Given the description of an element on the screen output the (x, y) to click on. 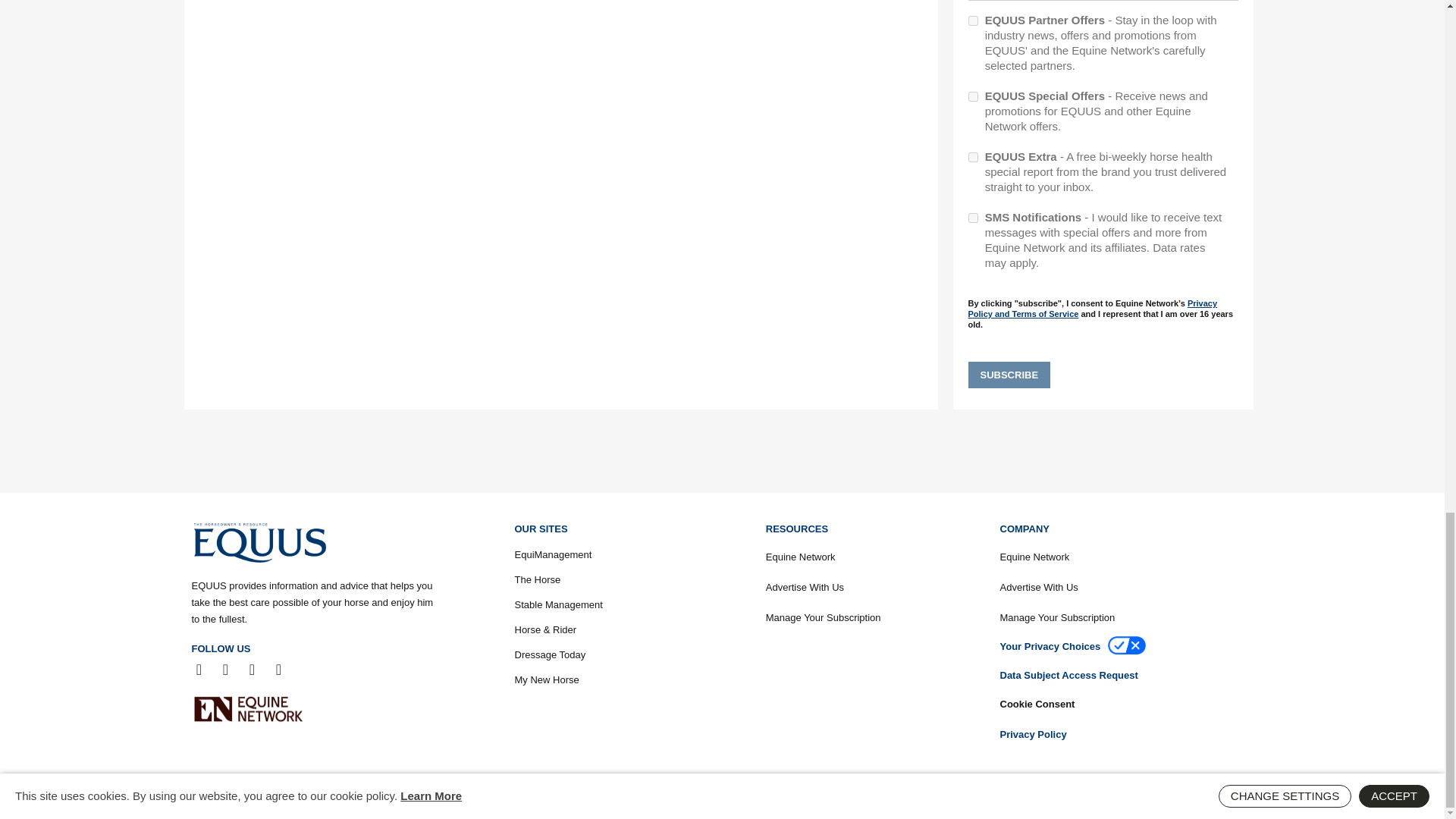
3rd party ad content (721, 450)
591f5baa-e9c3-40bf-bf02-f5923680caa3 (972, 96)
Subscribe (1008, 375)
52f26a8f-e5be-4237-a9cb-227d8912a511 (972, 20)
SMS Notifications (972, 217)
0cd2e389-c43e-4146-b3bb-59ab437fd8f4 (972, 157)
